Given the description of an element on the screen output the (x, y) to click on. 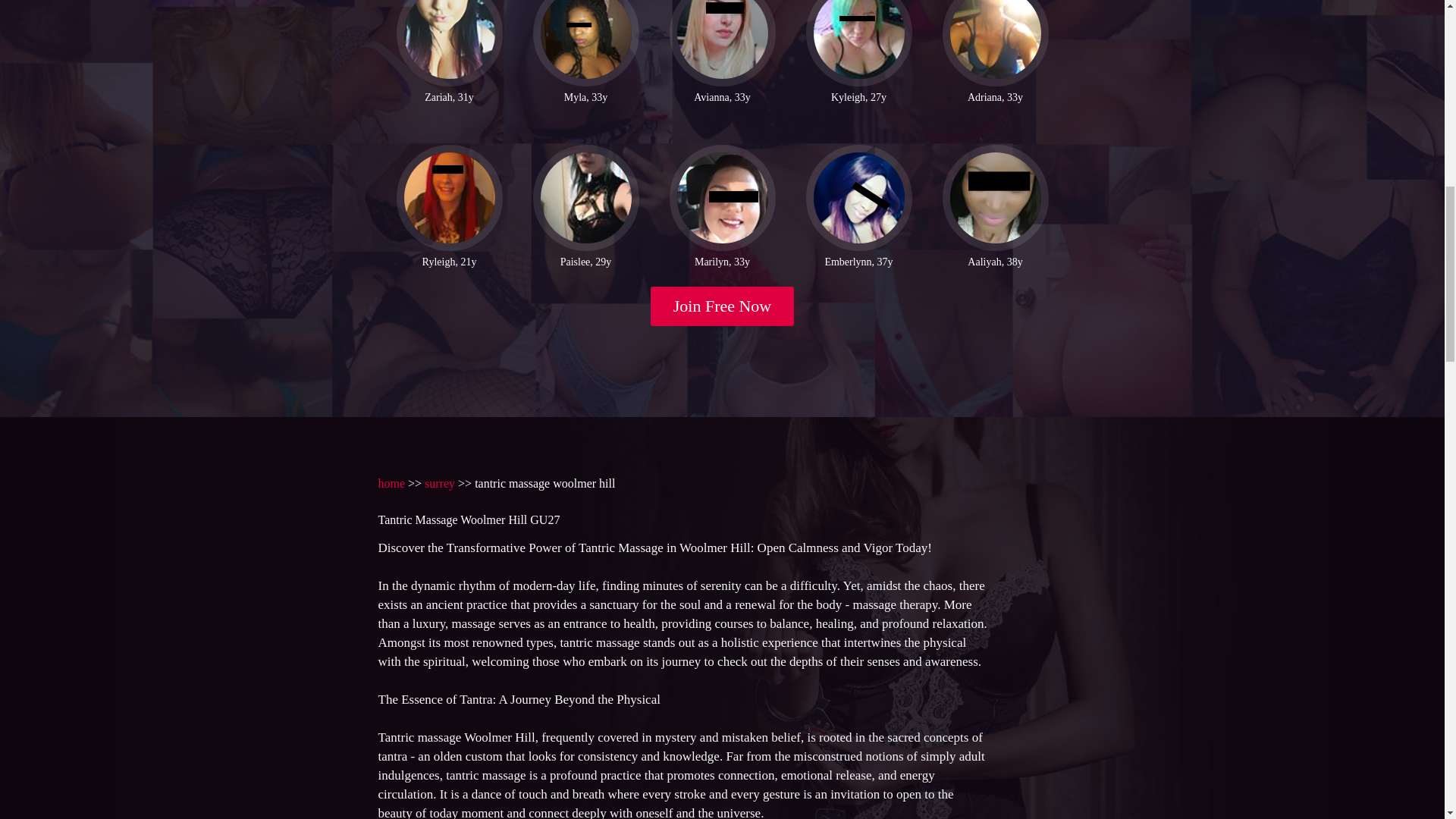
Join Free Now (722, 305)
Join (722, 305)
surrey (439, 482)
home (390, 482)
